Given the description of an element on the screen output the (x, y) to click on. 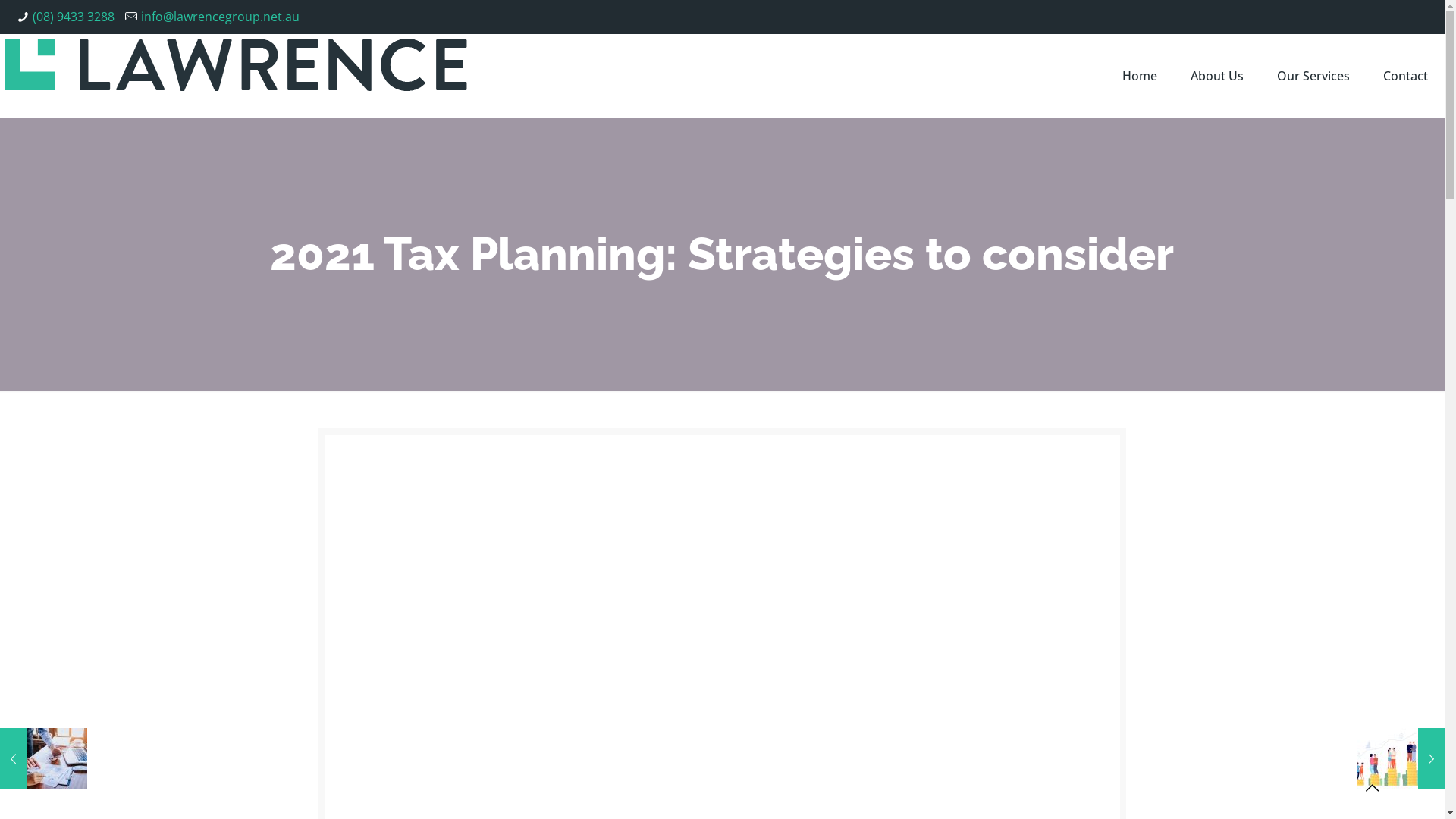
(08) 9433 3288 Element type: text (73, 16)
Our Services Element type: text (1313, 75)
Lawrence Group Element type: hover (235, 75)
Home Element type: text (1139, 75)
About Us Element type: text (1216, 75)
info@lawrencegroup.net.au Element type: text (220, 16)
Contact Element type: text (1405, 75)
